Given the description of an element on the screen output the (x, y) to click on. 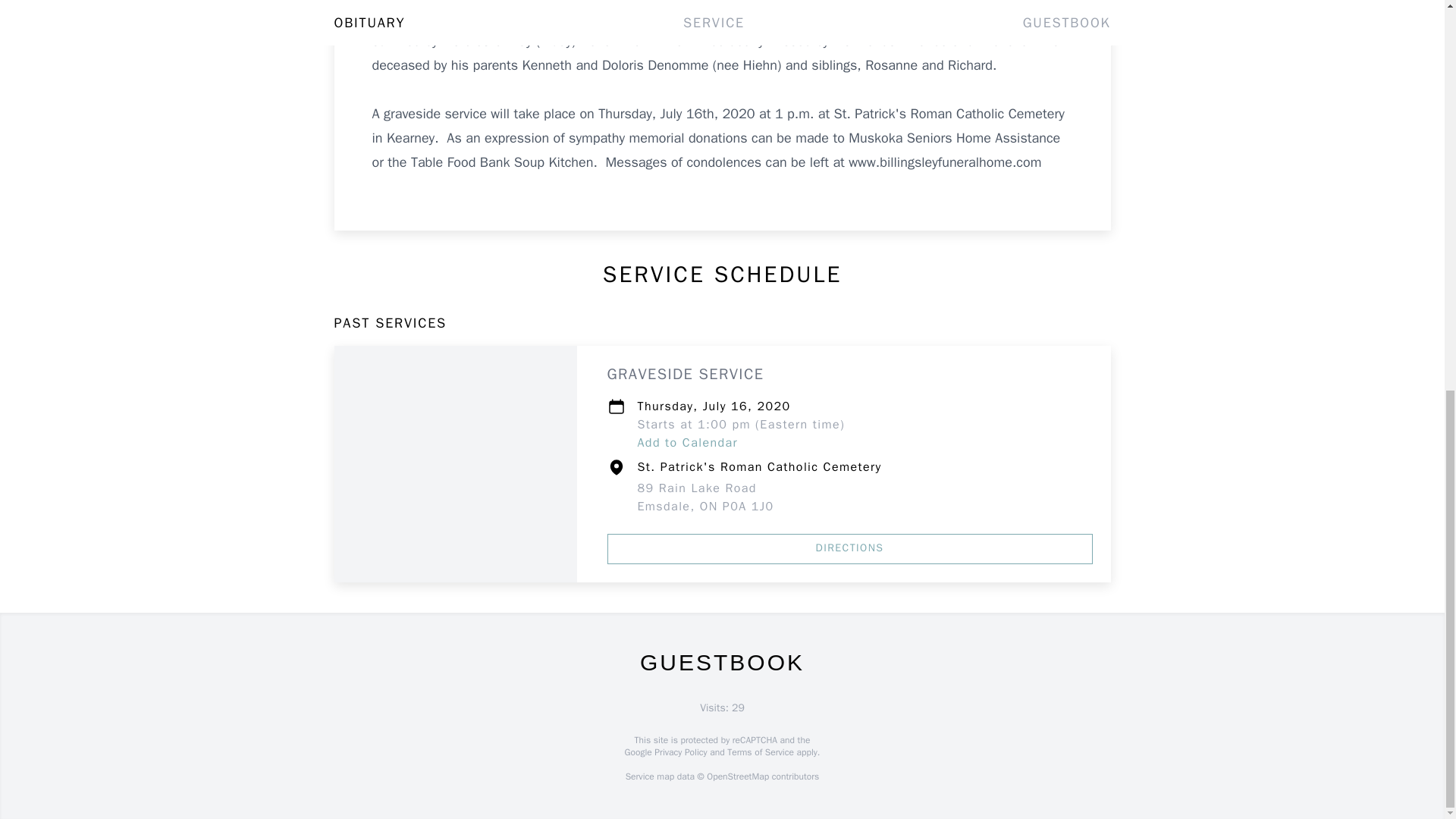
DIRECTIONS (849, 548)
Terms of Service (705, 497)
Add to Calendar (759, 752)
OpenStreetMap (687, 442)
Privacy Policy (737, 776)
